Given the description of an element on the screen output the (x, y) to click on. 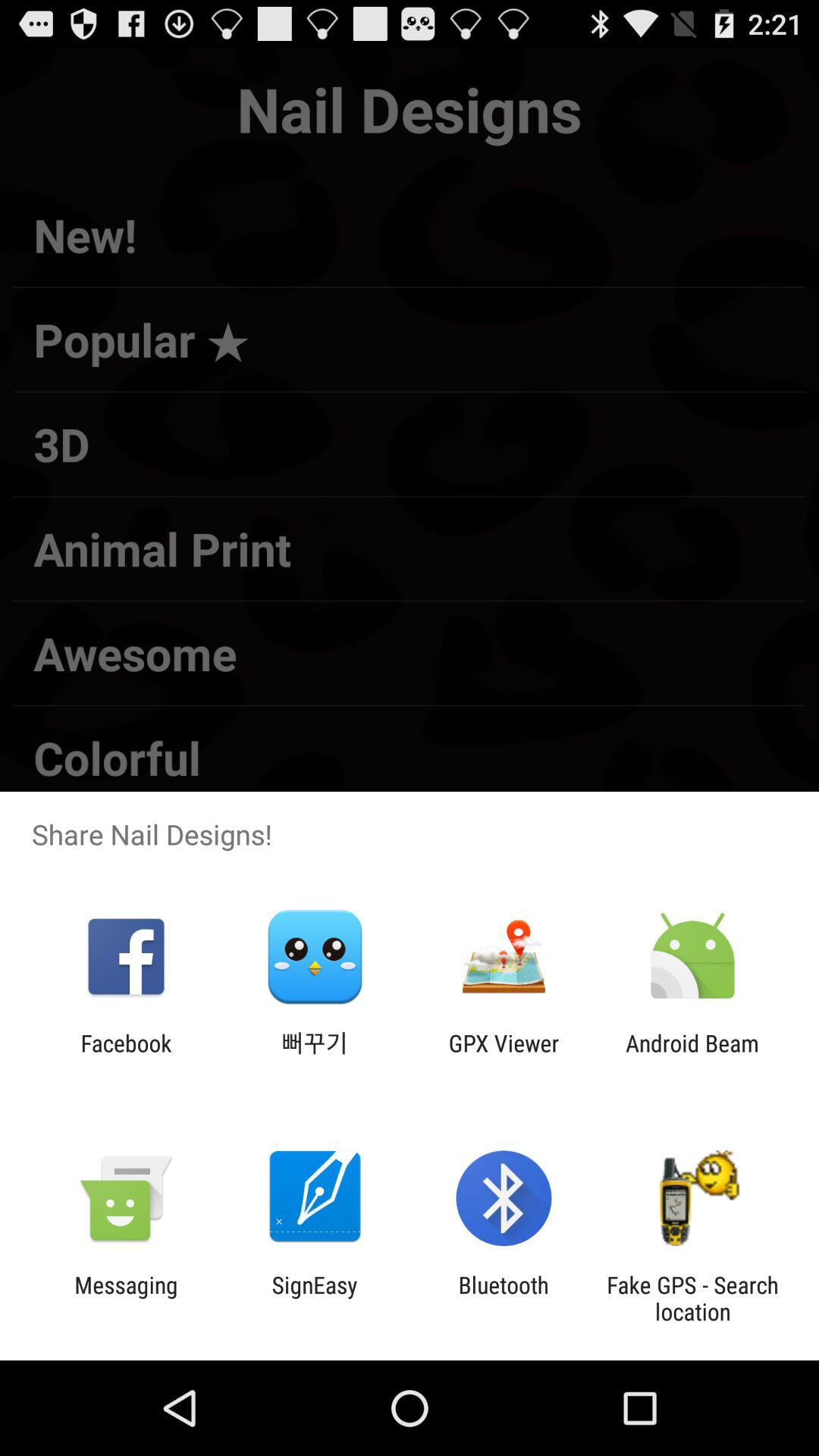
click signeasy (314, 1298)
